Given the description of an element on the screen output the (x, y) to click on. 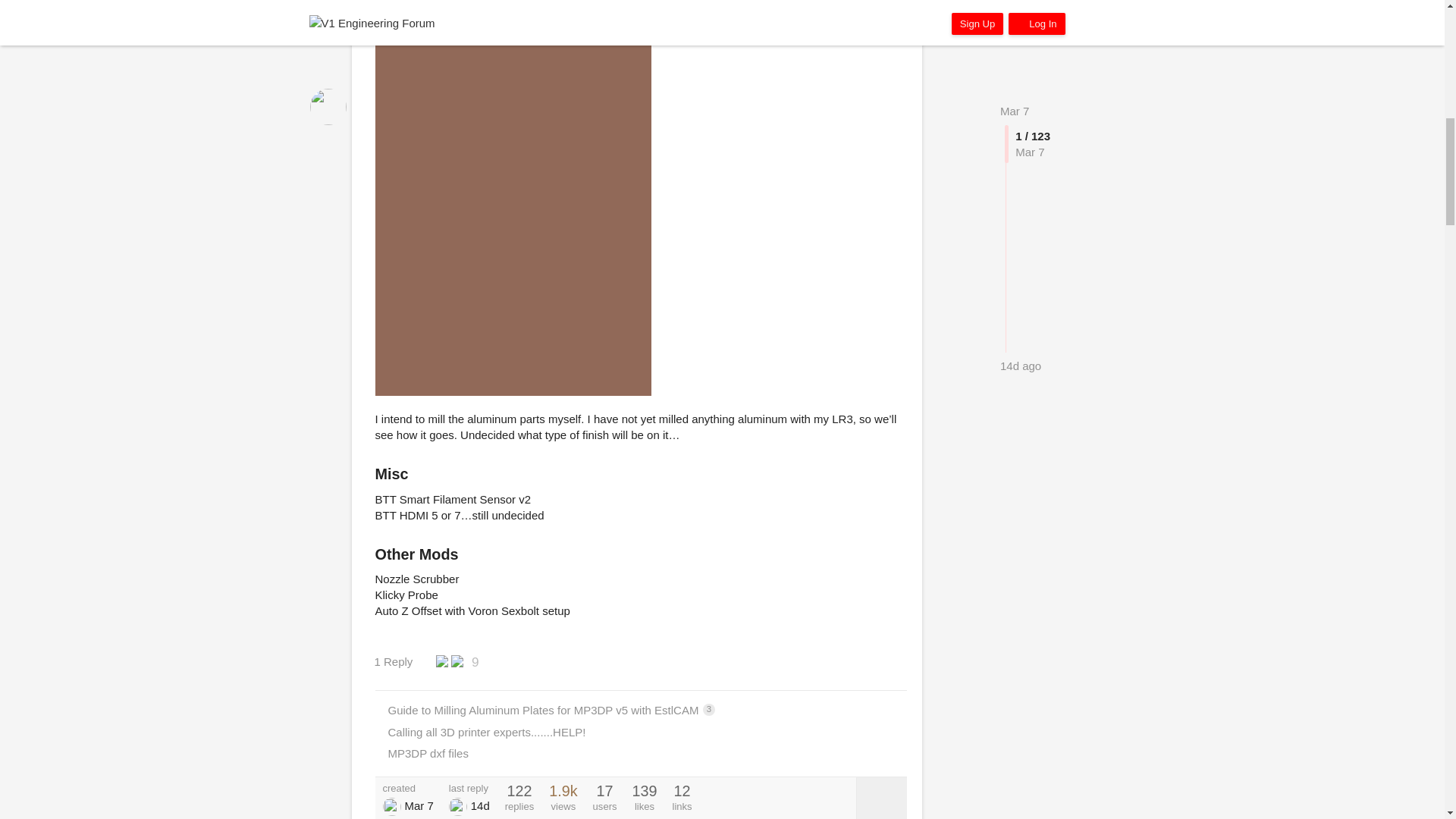
copy a link to this post to clipboard (891, 661)
1 Reply (400, 661)
:grin: (513, 2)
Please sign up or log in to like this post (859, 661)
collapse topic details (881, 798)
Britt Percival (457, 806)
Mar 7, 2024 9:39 pm (418, 805)
Mike M (390, 806)
